Given the description of an element on the screen output the (x, y) to click on. 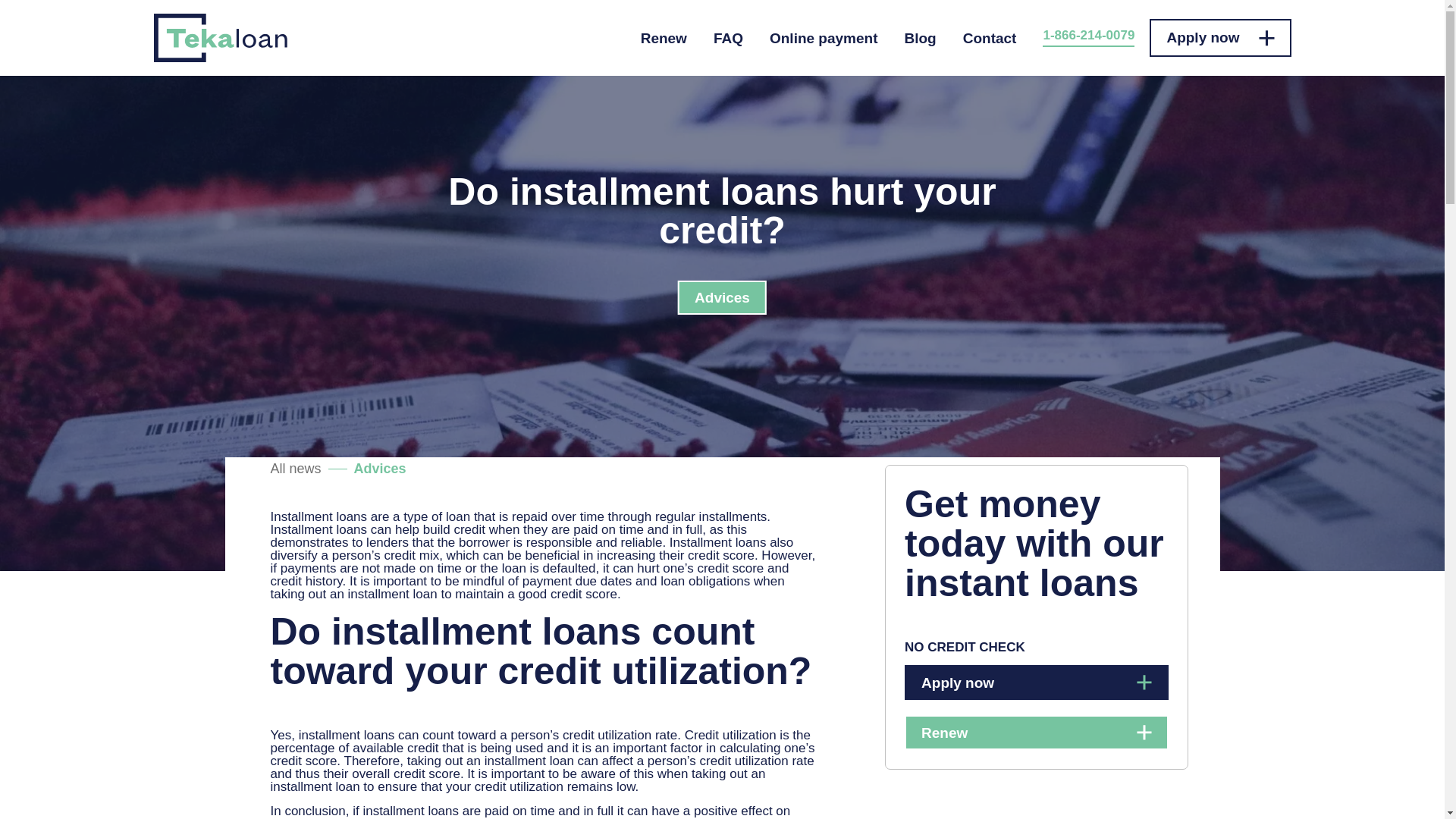
credit history (305, 581)
Advices (379, 468)
Installment loans are a type of loan (369, 516)
All news (294, 468)
Apply now (1220, 37)
Blog (920, 37)
FAQ (727, 37)
Renew (663, 37)
Renew (1036, 732)
Advices (722, 297)
1-866-214-0079 (1088, 37)
Apply now (1036, 682)
Online payment (823, 37)
Contact (989, 37)
